Given the description of an element on the screen output the (x, y) to click on. 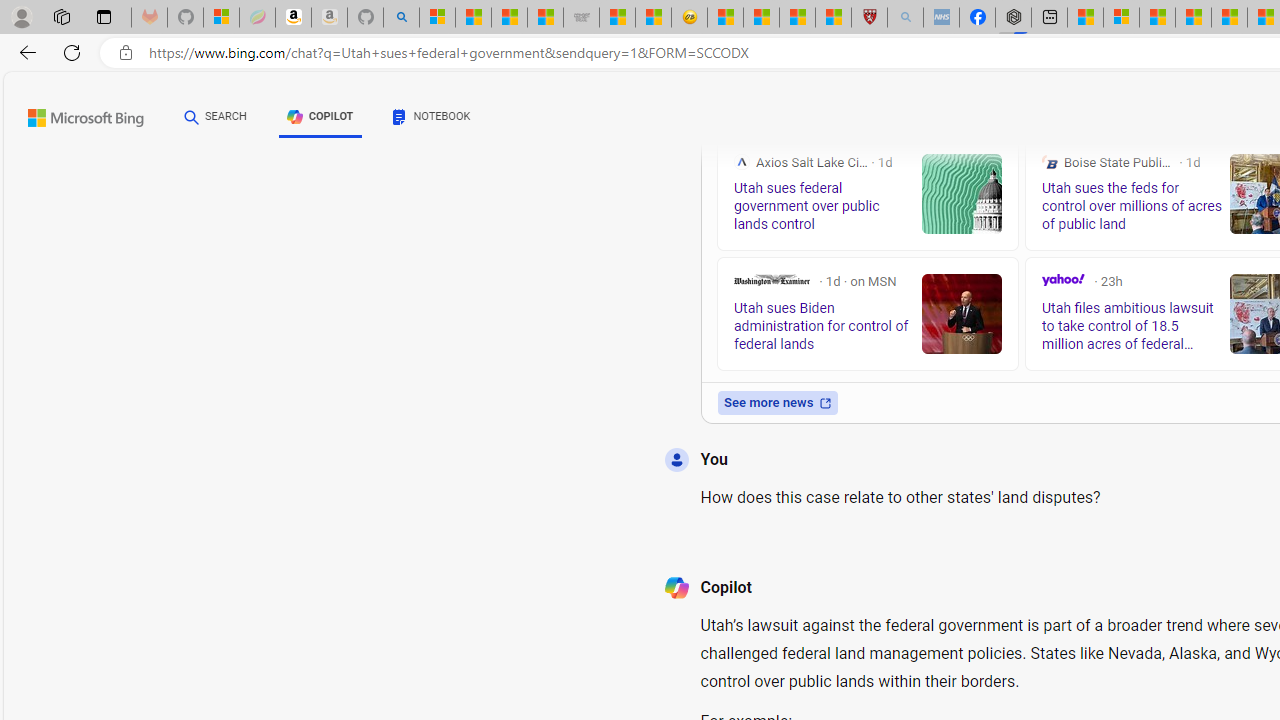
Back to Bing search (73, 113)
Robert H. Shmerling, MD - Harvard Health (869, 17)
Utah sues federal government over public lands control (961, 194)
